Given the description of an element on the screen output the (x, y) to click on. 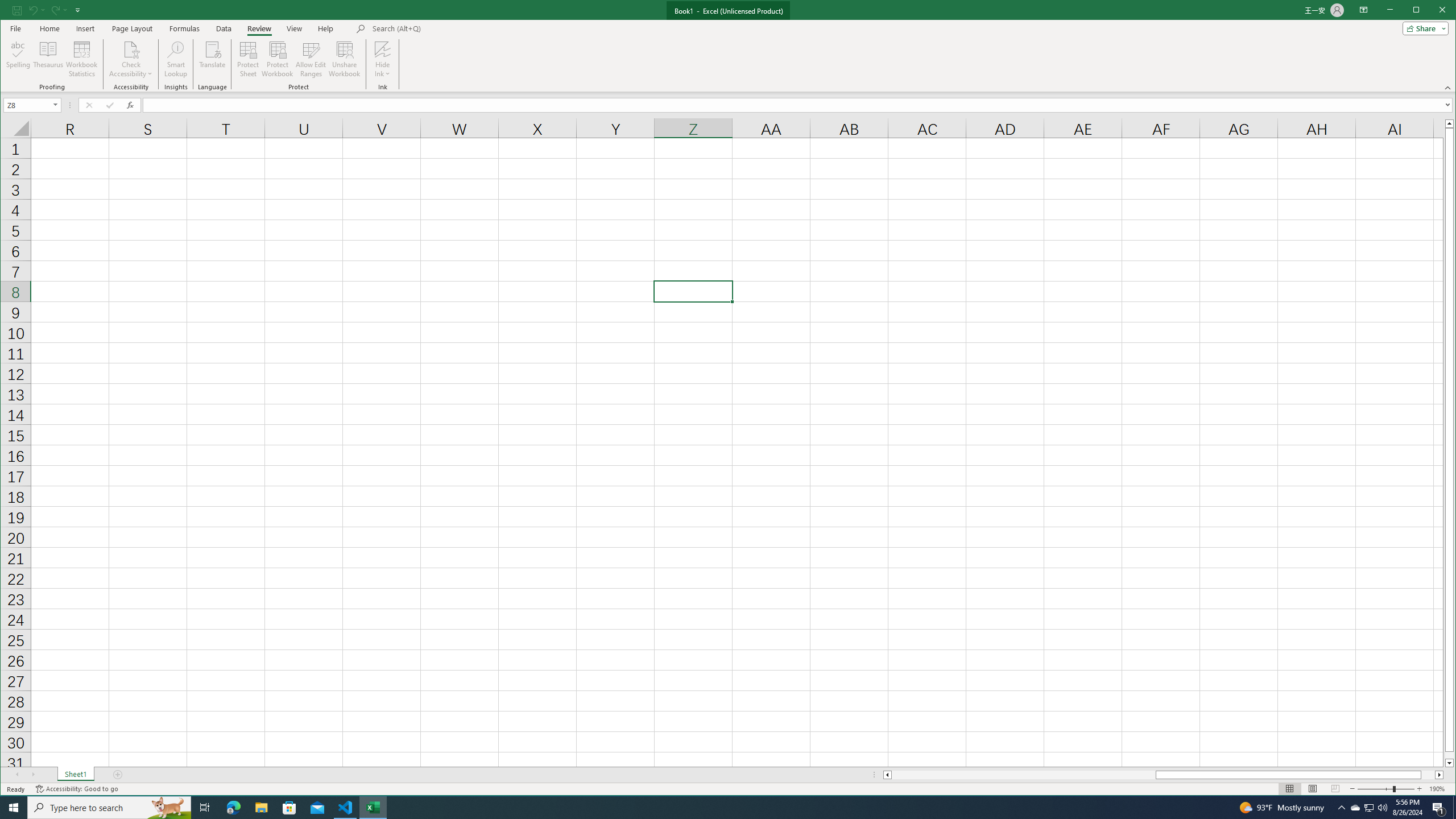
Running applications (717, 807)
Hide Ink (382, 59)
File Explorer (261, 807)
User Promoted Notification Area (1368, 807)
Allow Edit Ranges (310, 59)
Protect Sheet... (247, 59)
Maximize (1432, 11)
Smart Lookup (176, 59)
